Given the description of an element on the screen output the (x, y) to click on. 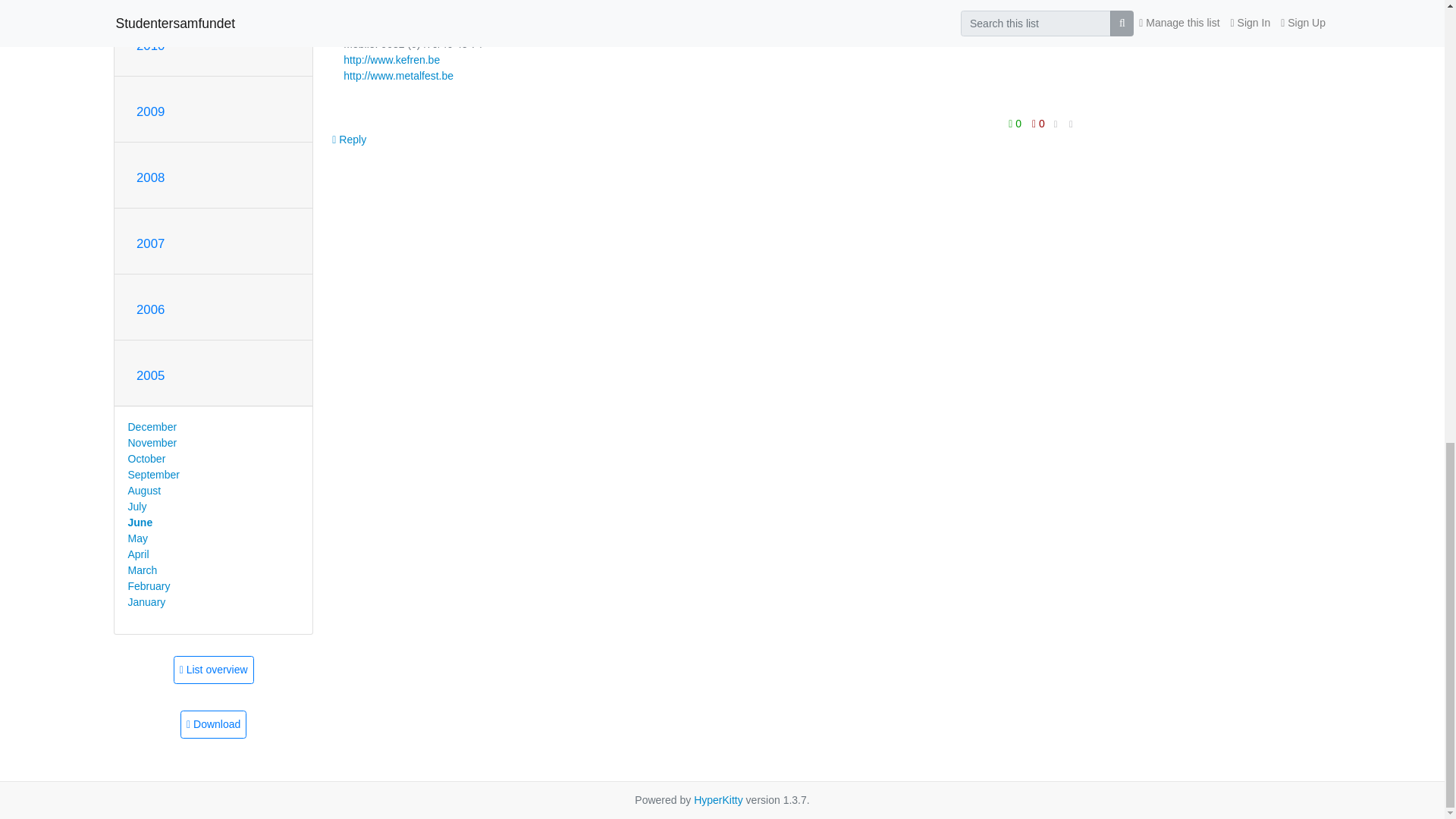
Sign in to reply online (349, 139)
You must be logged-in to vote. (1037, 123)
You must be logged-in to vote. (1015, 123)
This message in gzipped mbox format (213, 724)
